Given the description of an element on the screen output the (x, y) to click on. 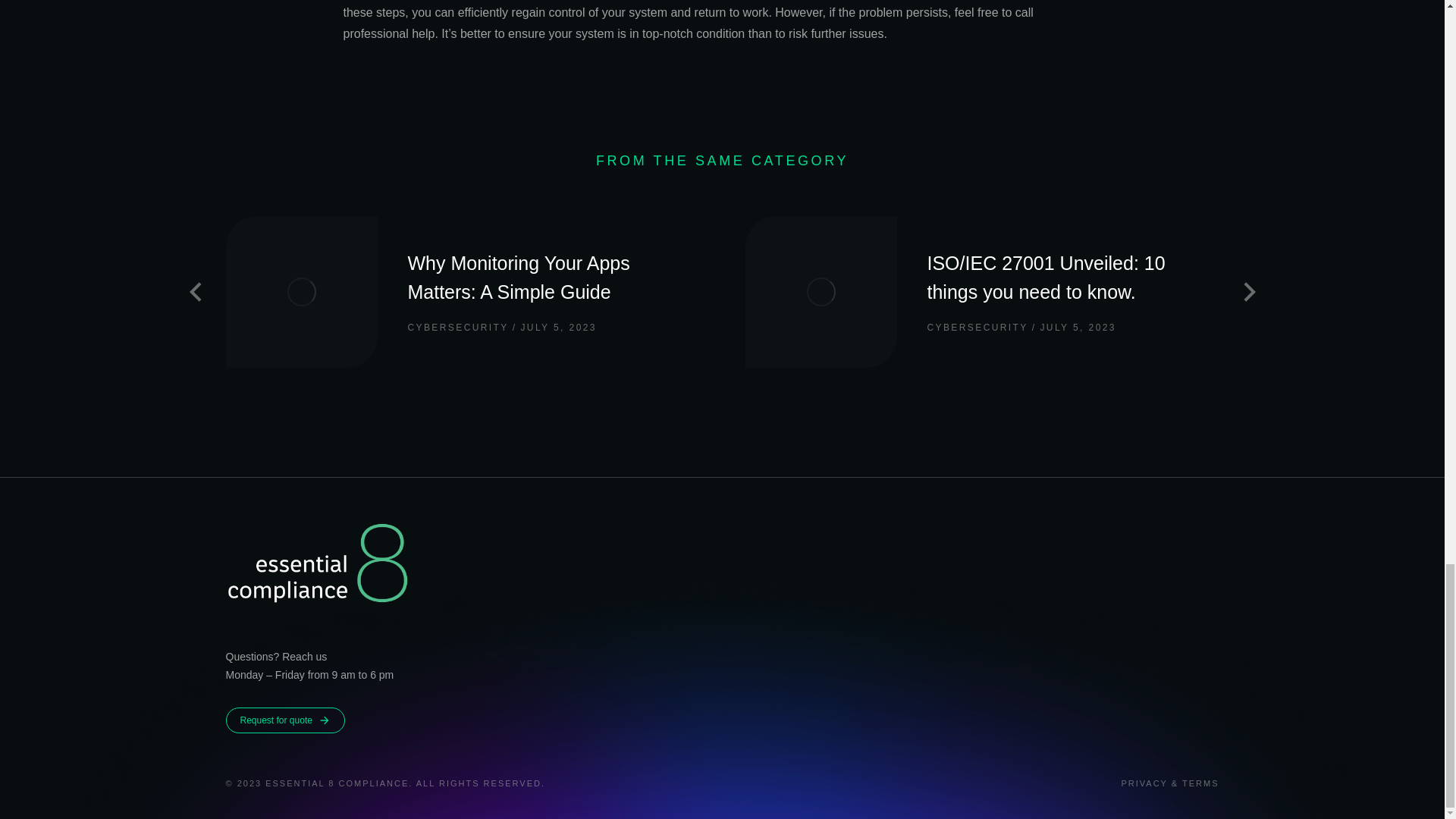
Why Monitoring Your Apps Matters: A Simple Guide (553, 277)
1:21 pm (554, 327)
Why Monitoring Your Apps Matters: A Simple Guide (553, 277)
CYBERSECURITY (976, 327)
JULY 5, 2023 (554, 327)
JULY 5, 2023 (1074, 327)
CYBERSECURITY (457, 327)
10:57 am (1074, 327)
